Given the description of an element on the screen output the (x, y) to click on. 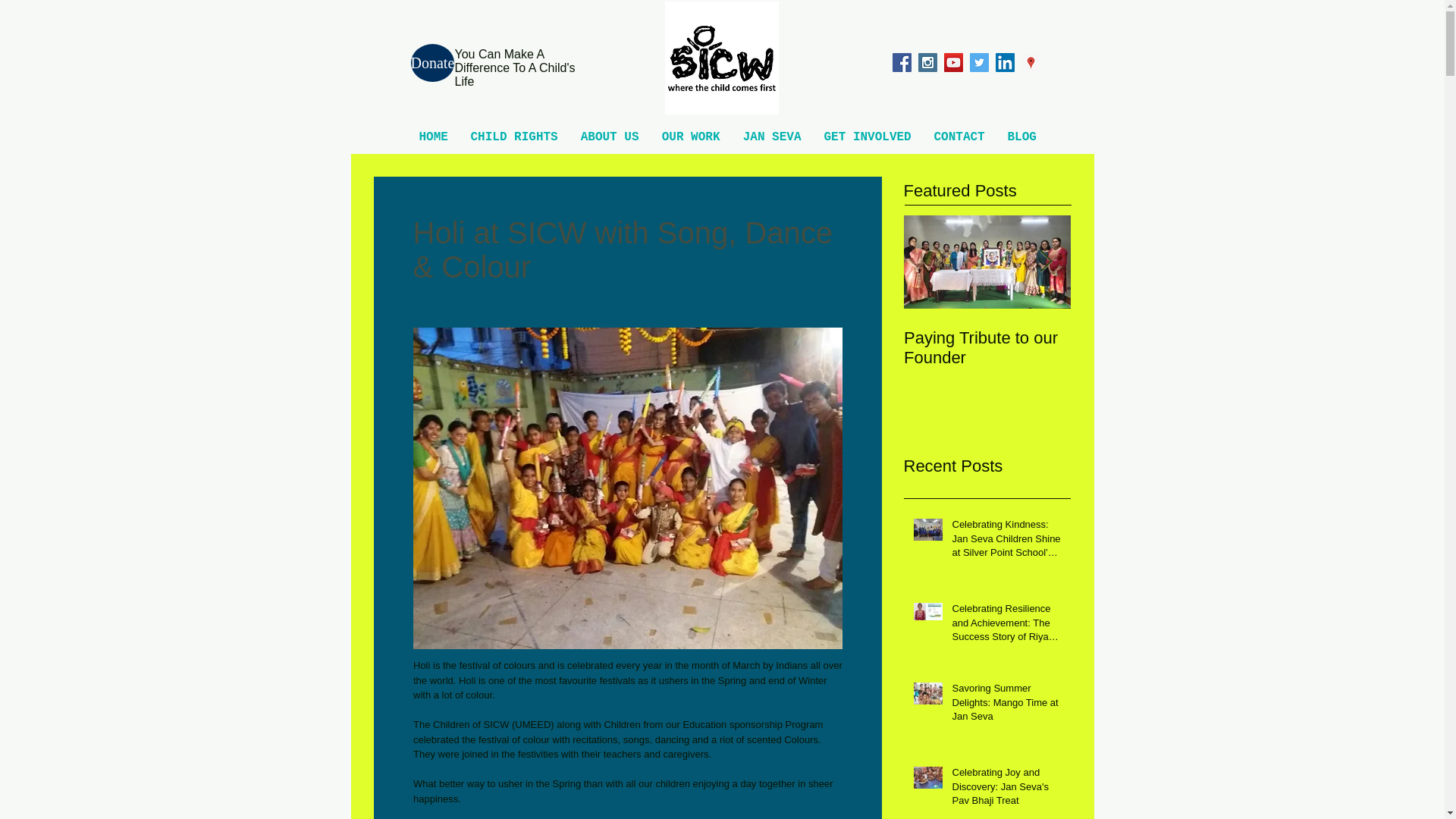
Donate (432, 62)
BLOG (1021, 137)
JAN SEVA (771, 137)
GET INVOLVED (867, 137)
Paying Tribute to our Founder (987, 347)
HOME (433, 137)
CHILD RIGHTS (514, 137)
ABOUT US (609, 137)
CONTACT (958, 137)
OUR WORK (691, 137)
